Given the description of an element on the screen output the (x, y) to click on. 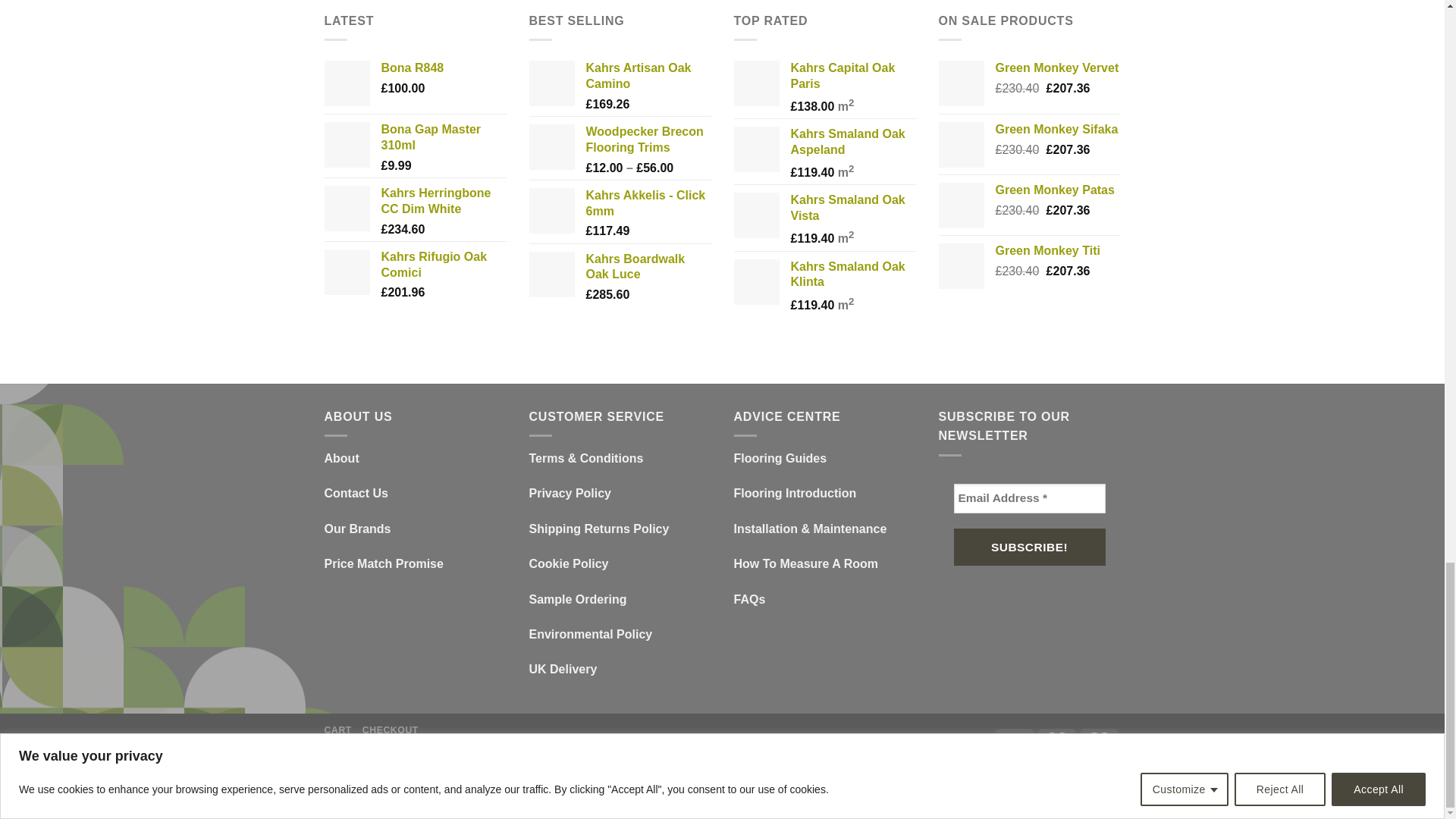
Subscribe! (1029, 546)
